Given the description of an element on the screen output the (x, y) to click on. 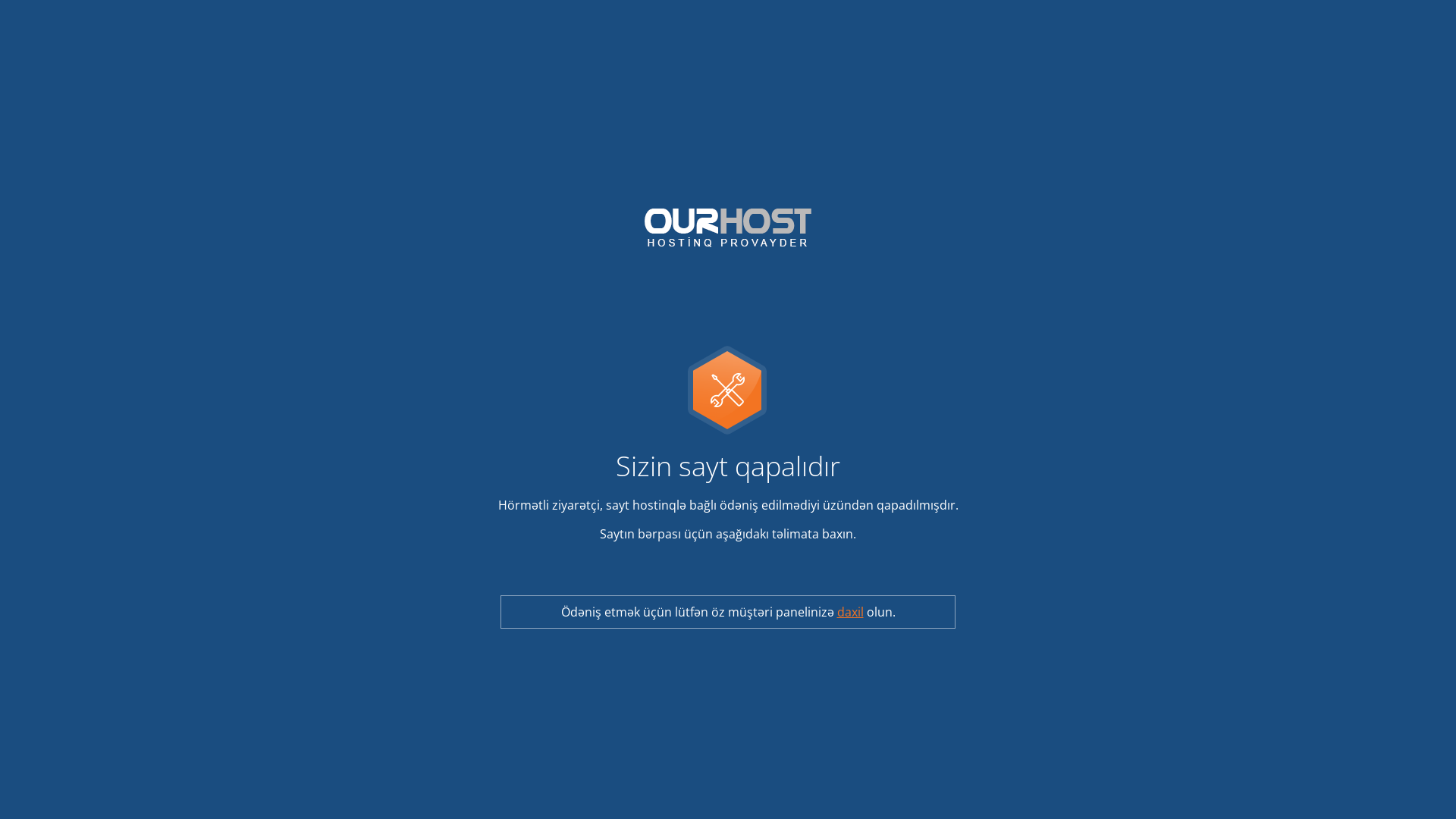
daxil Element type: text (850, 611)
